Given the description of an element on the screen output the (x, y) to click on. 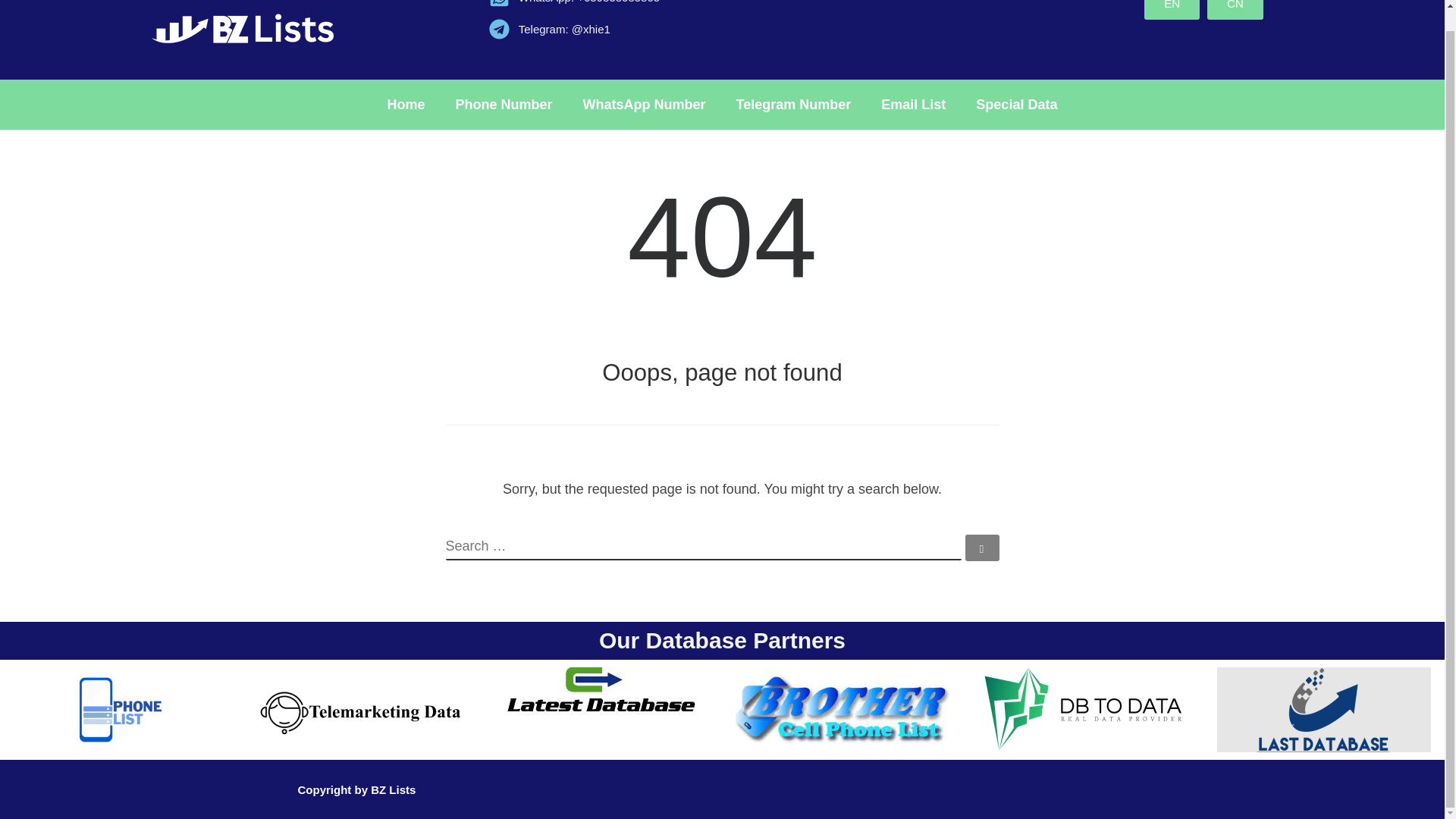
Email List (913, 104)
Telegram Number (793, 104)
EN (1171, 9)
Home (406, 104)
BZ Lists (392, 789)
Phone Number (504, 104)
WhatsApp Number (643, 104)
CN (1235, 9)
Special Data (1015, 104)
